Given the description of an element on the screen output the (x, y) to click on. 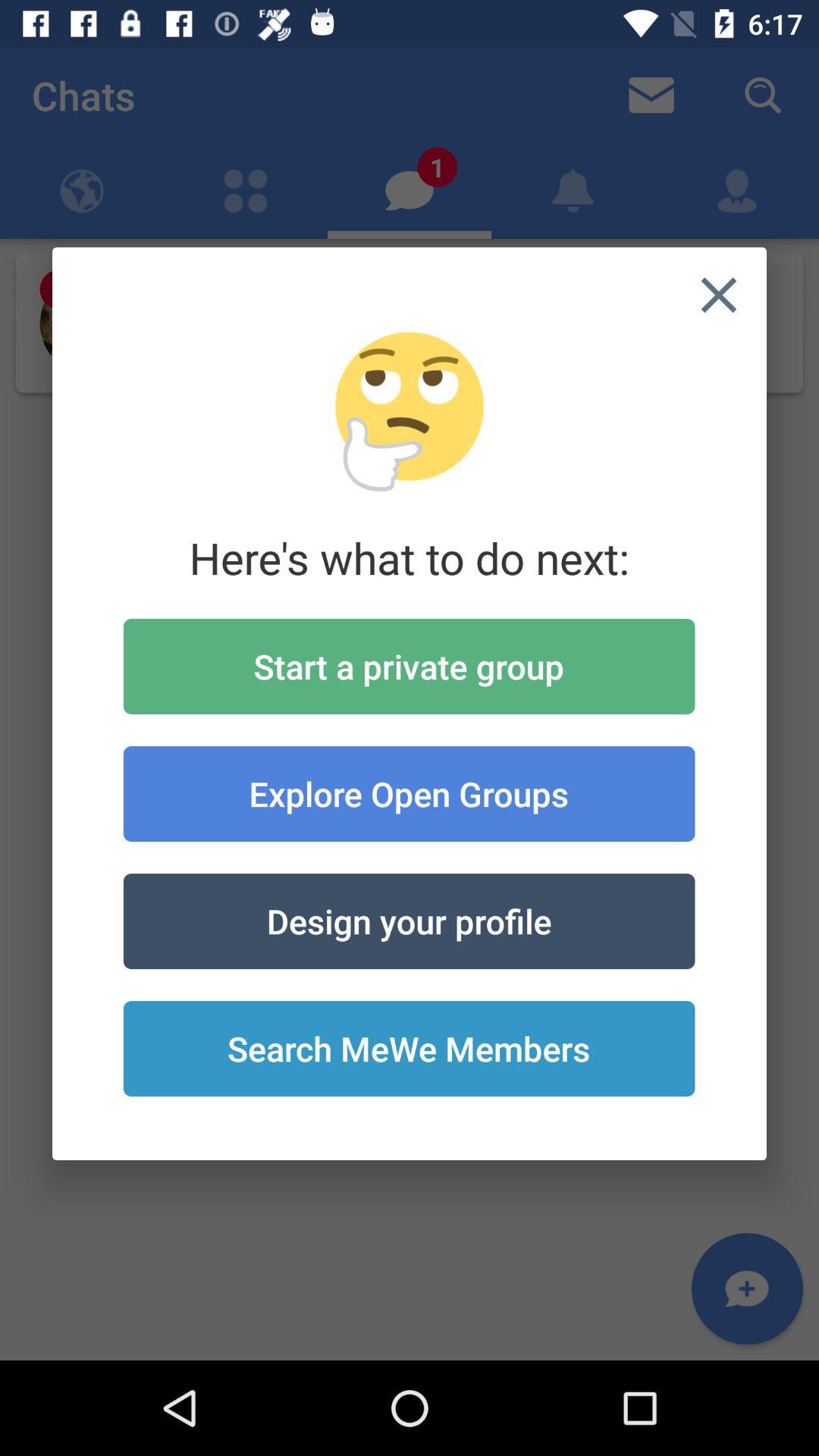
launch the search mewe members (409, 1048)
